Given the description of an element on the screen output the (x, y) to click on. 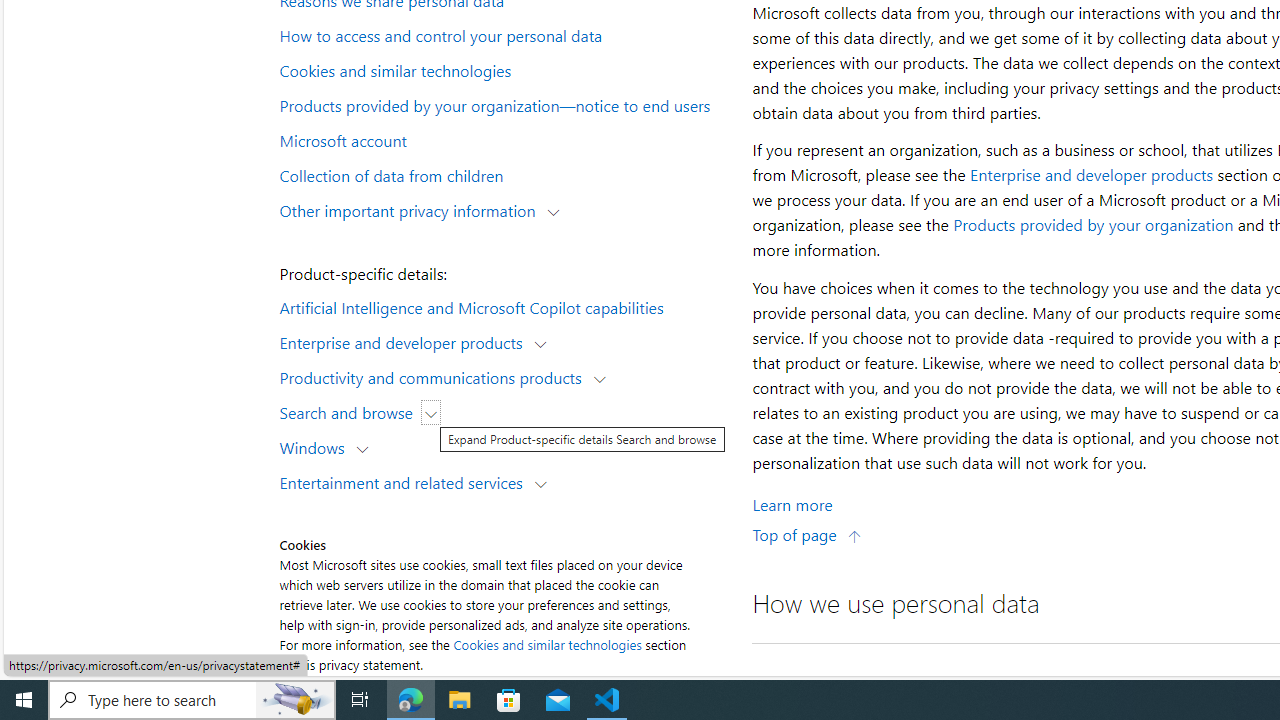
Learn More about Personal data we collect (792, 504)
Windows (316, 446)
Enterprise and developer products (1091, 174)
